Given the description of an element on the screen output the (x, y) to click on. 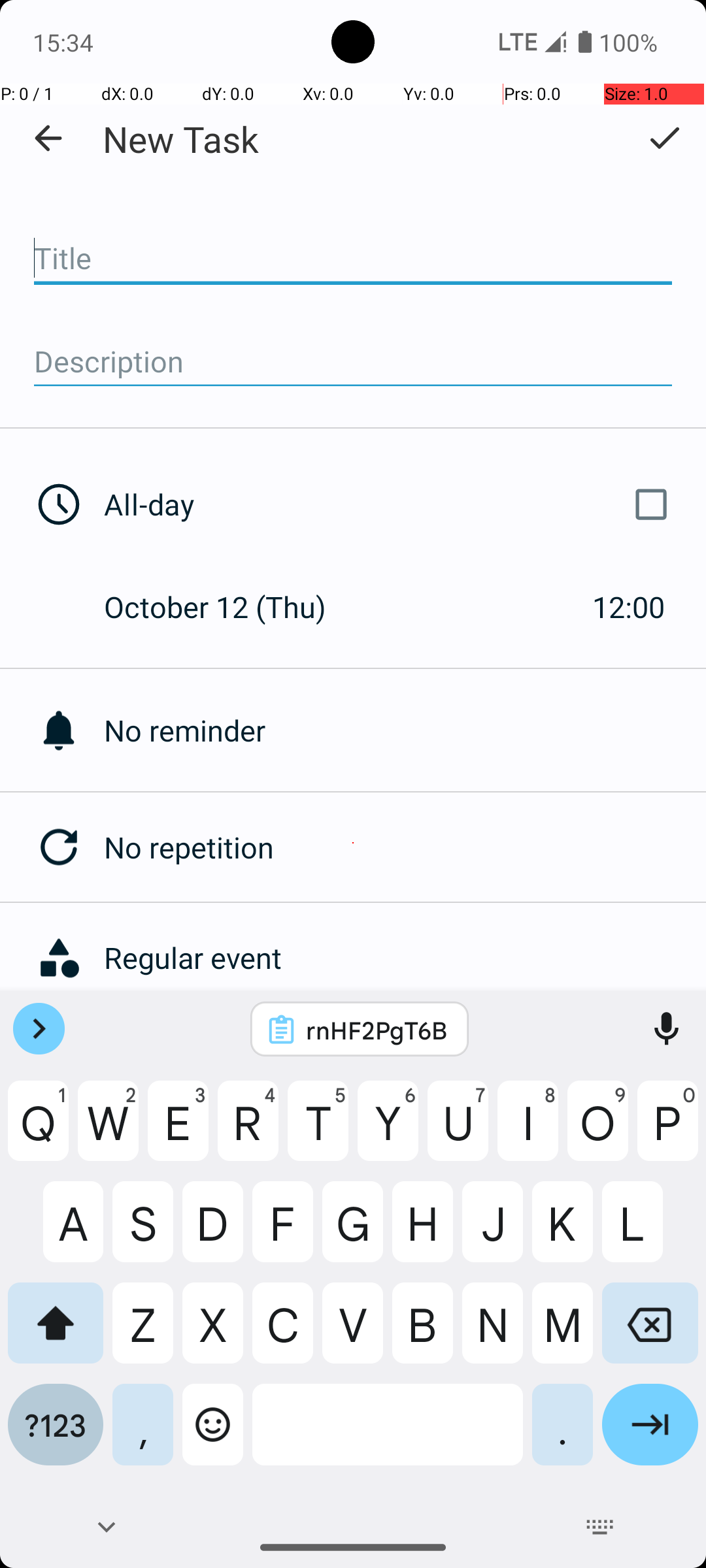
New Task Element type: android.widget.TextView (180, 138)
October 12 (Thu) Element type: android.widget.TextView (228, 606)
rnHF2PgT6B Element type: android.widget.TextView (376, 1029)
